Given the description of an element on the screen output the (x, y) to click on. 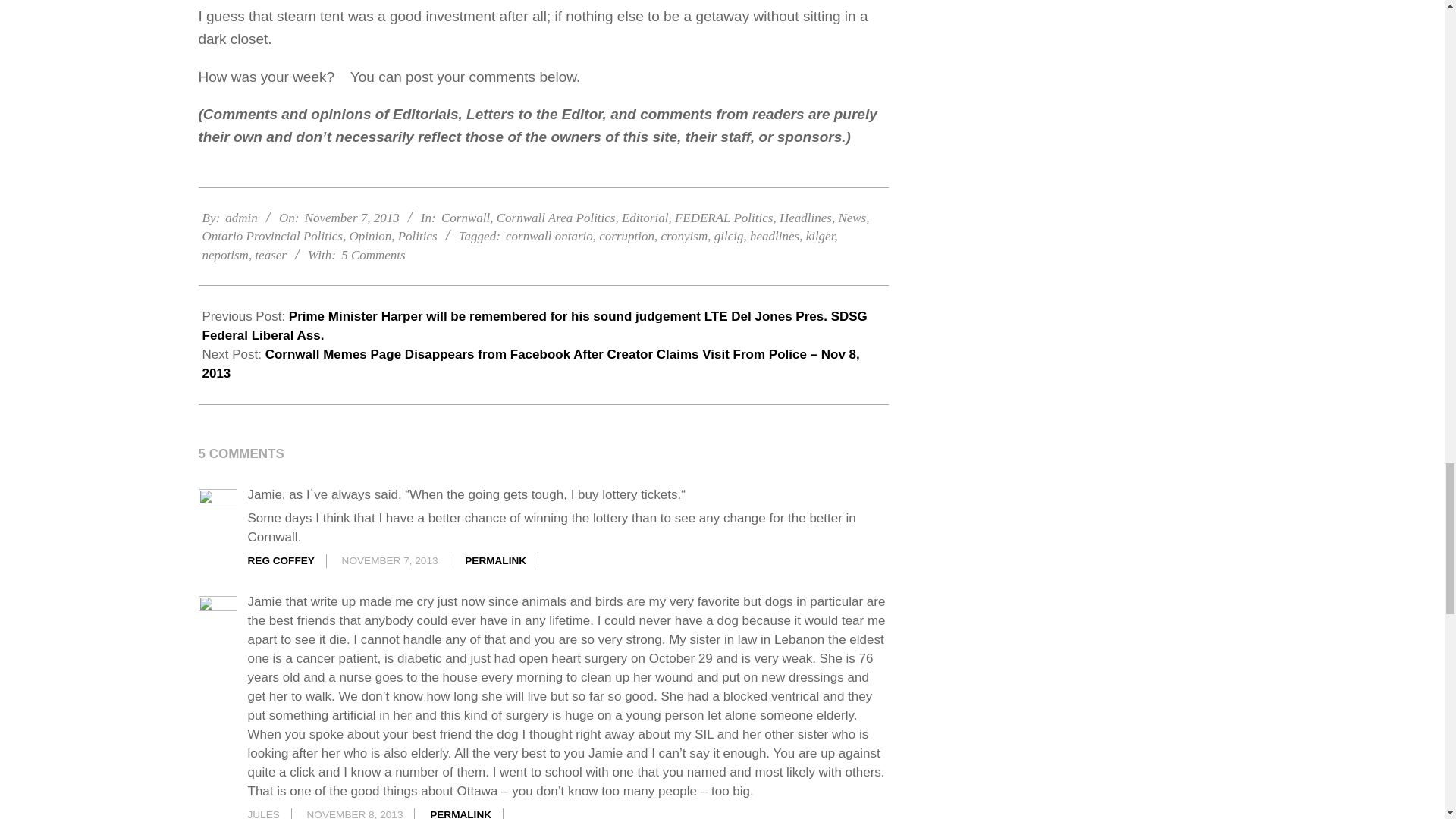
Thursday, November 7, 2013, 5:48 pm (351, 217)
Thursday, November 7, 2013, 9:14 pm (390, 560)
Posts by admin (241, 217)
Friday, November 8, 2013, 2:42 pm (355, 814)
